Given the description of an element on the screen output the (x, y) to click on. 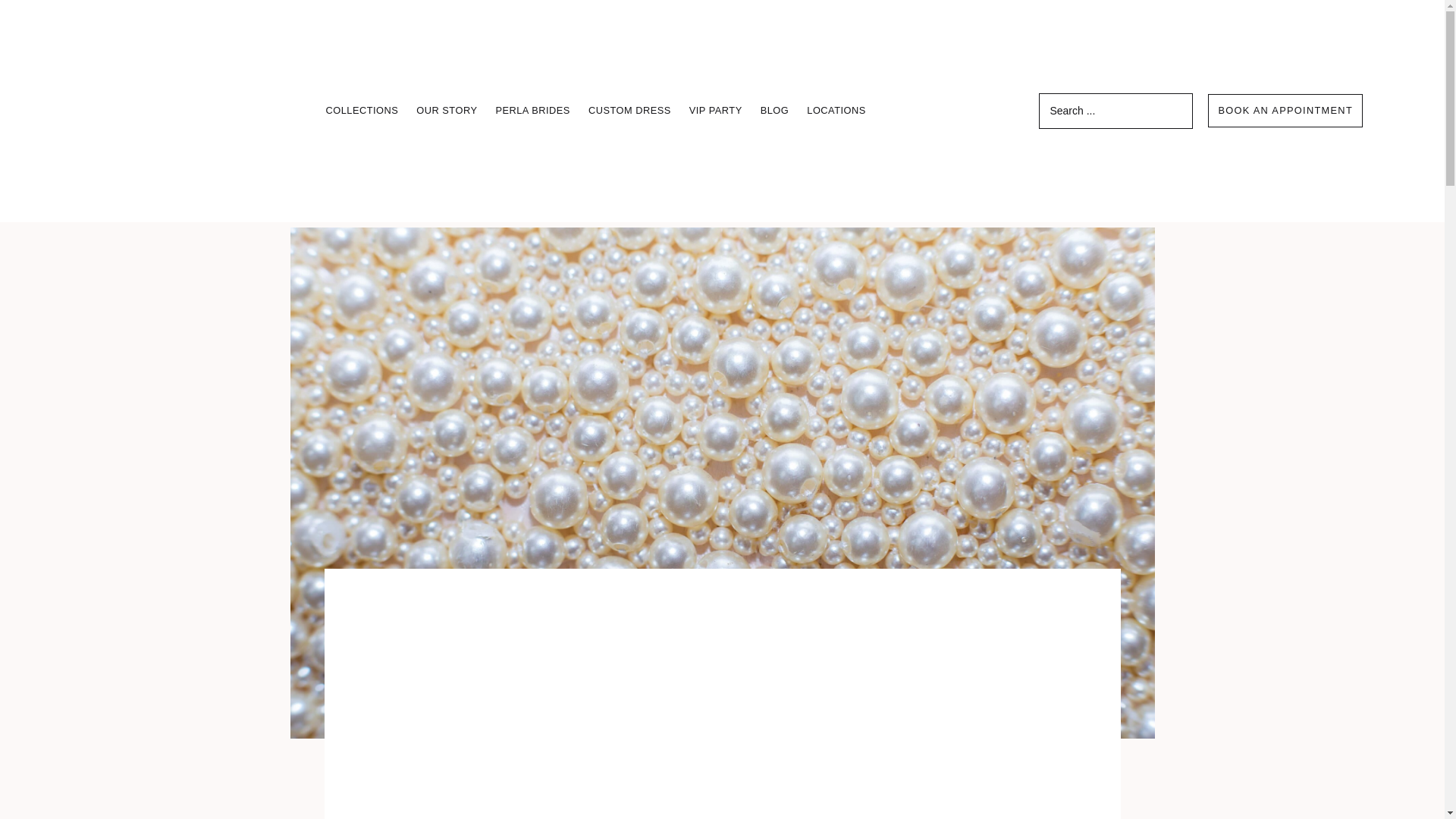
PERLA BRIDES (532, 110)
COLLECTIONS (361, 110)
BLOG (774, 110)
OUR STORY (445, 110)
VIP PARTY (716, 110)
LOCATIONS (836, 110)
BOOK AN APPOINTMENT (1285, 110)
CUSTOM DRESS (630, 110)
